Given the description of an element on the screen output the (x, y) to click on. 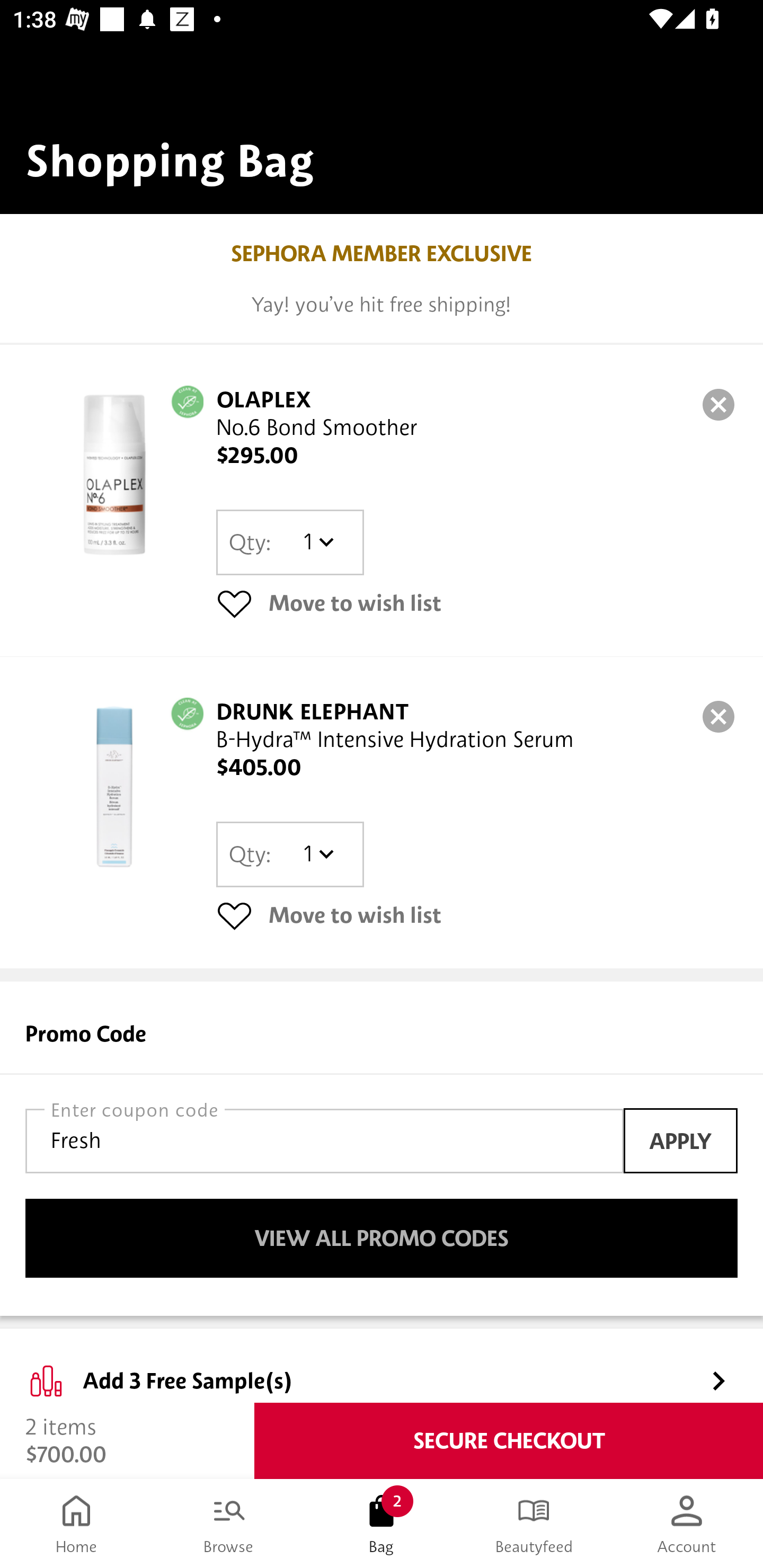
1 (317, 542)
Move to wish list (476, 602)
1 (317, 854)
Move to wish list (476, 914)
Promo Code Fresh APPLY VIEW ALL PROMO CODES (381, 1148)
APPLY (680, 1140)
Fresh (324, 1140)
VIEW ALL PROMO CODES (381, 1238)
Add 3 Free Sample(s) (381, 1365)
SECURE CHECKOUT (508, 1440)
Home (76, 1523)
Browse (228, 1523)
Beautyfeed (533, 1523)
Account (686, 1523)
